Given the description of an element on the screen output the (x, y) to click on. 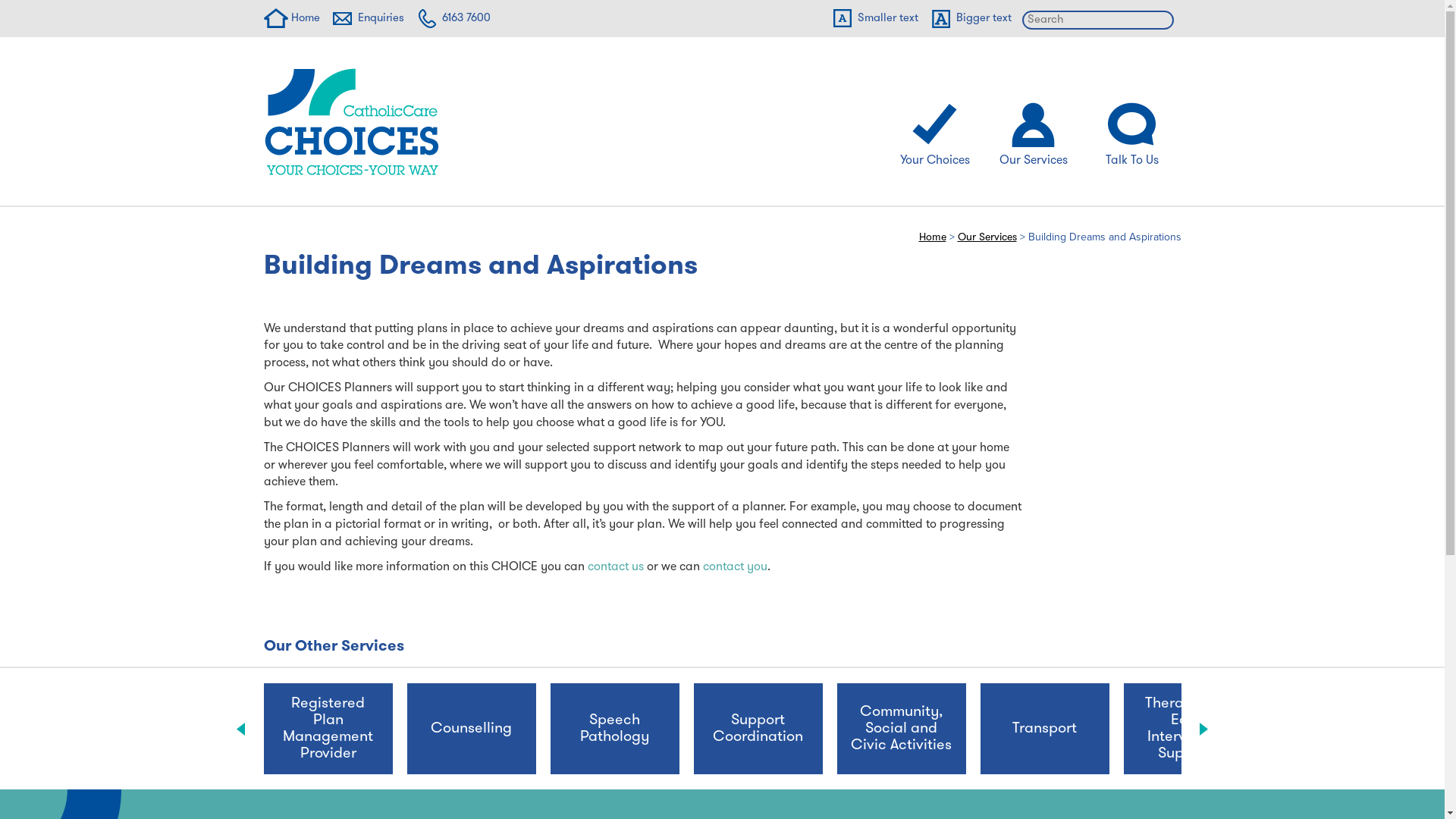
Our Services Element type: text (986, 237)
Your Choices Element type: text (934, 131)
Transport Element type: text (1044, 728)
Home Element type: text (932, 237)
Enquiries Element type: text (367, 18)
Speech Pathology Element type: text (614, 728)
Therapy and Early Intervention Supports Element type: text (1187, 728)
contact us Element type: text (614, 567)
Support Coordination Element type: text (758, 728)
Registered Plan Management Provider Element type: text (327, 728)
Community, Social and Civic Activities Element type: text (900, 728)
Talk To Us Element type: text (1131, 131)
Counselling Element type: text (471, 728)
Our Services Element type: text (1033, 131)
contact you Element type: text (734, 567)
Smaller text Element type: text (873, 18)
Home Element type: text (291, 18)
Bigger text Element type: text (969, 18)
